Given the description of an element on the screen output the (x, y) to click on. 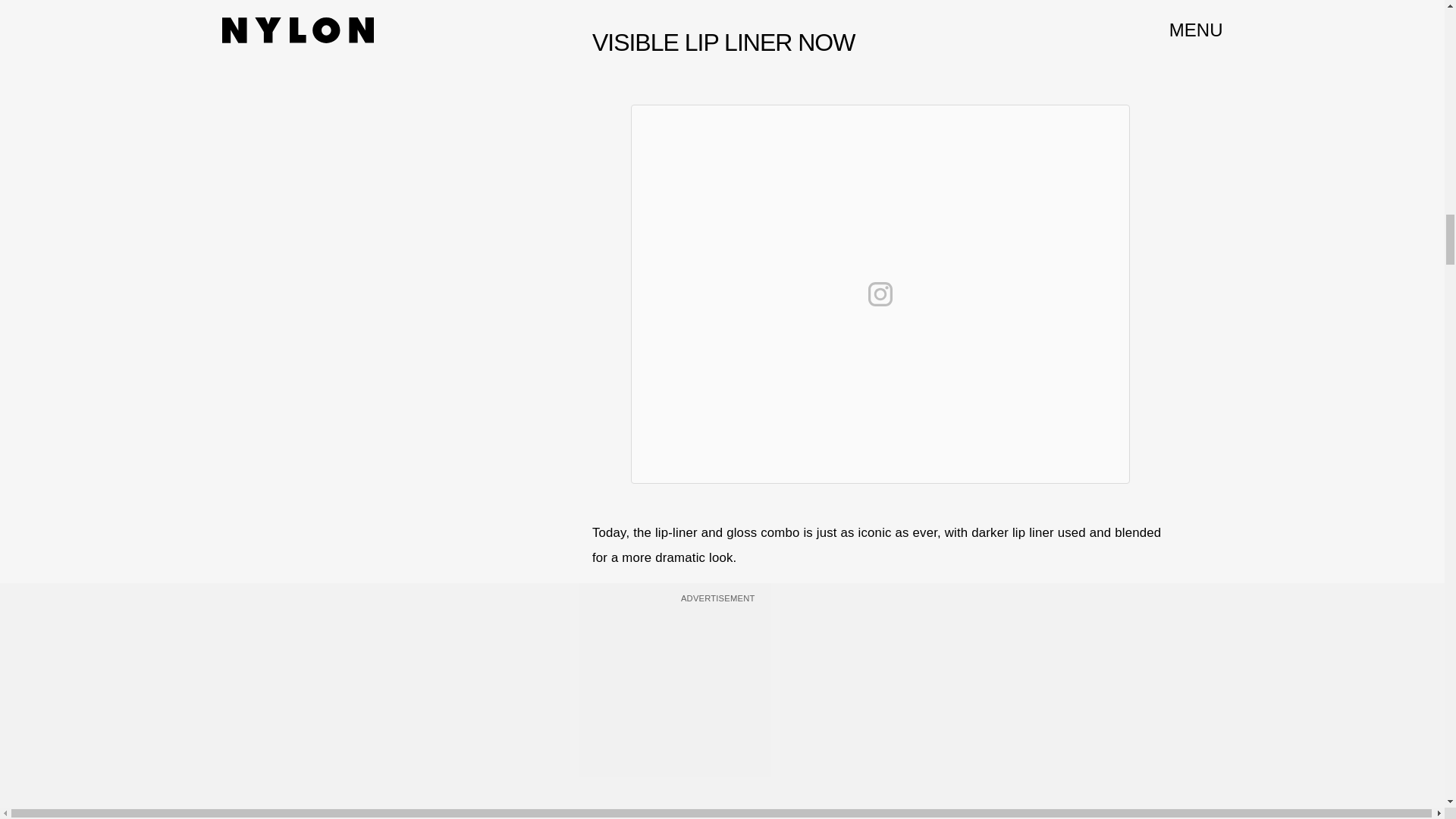
View on Instagram (879, 294)
